Given the description of an element on the screen output the (x, y) to click on. 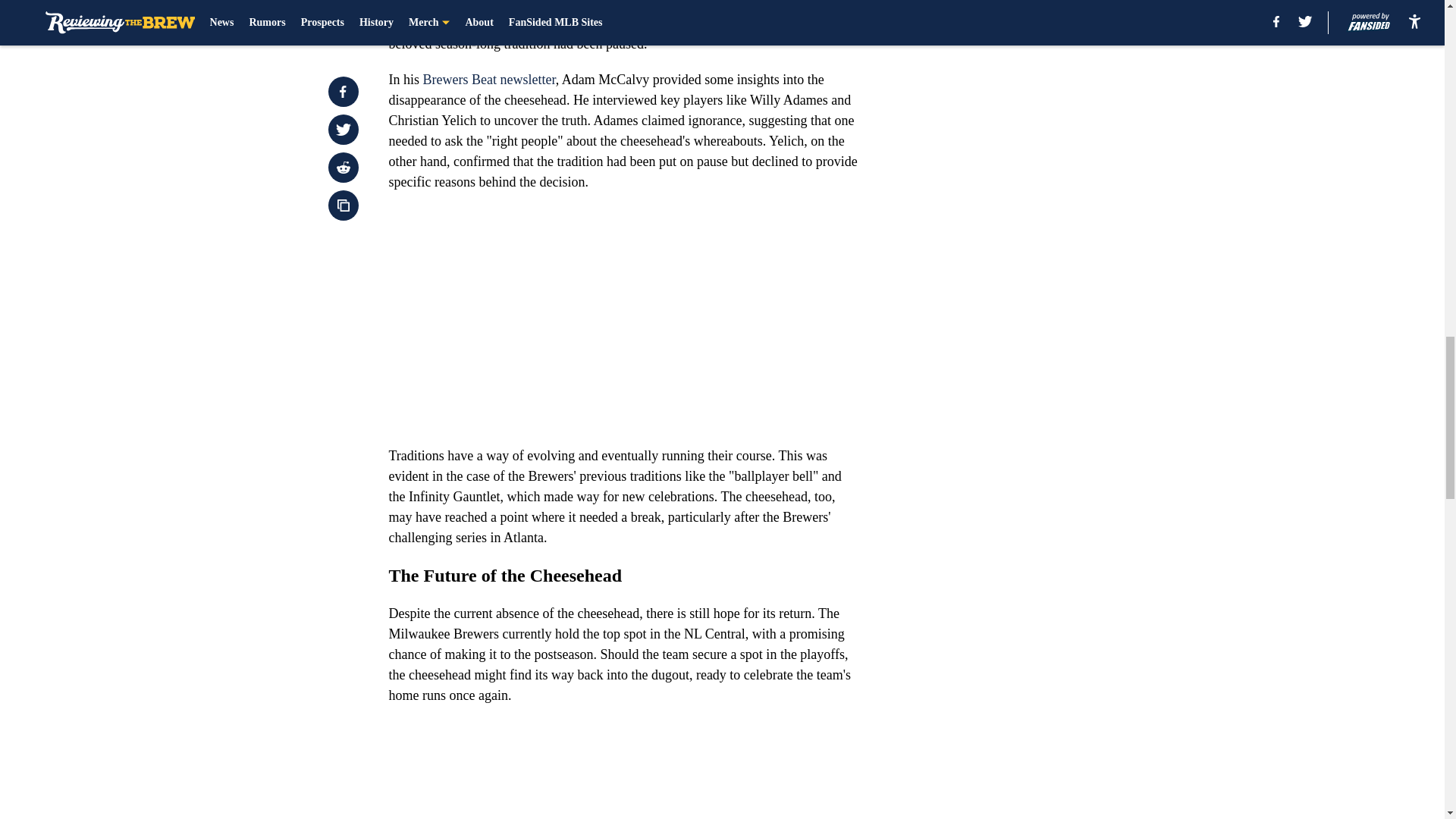
Brewers Beat newsletter (489, 79)
